Given the description of an element on the screen output the (x, y) to click on. 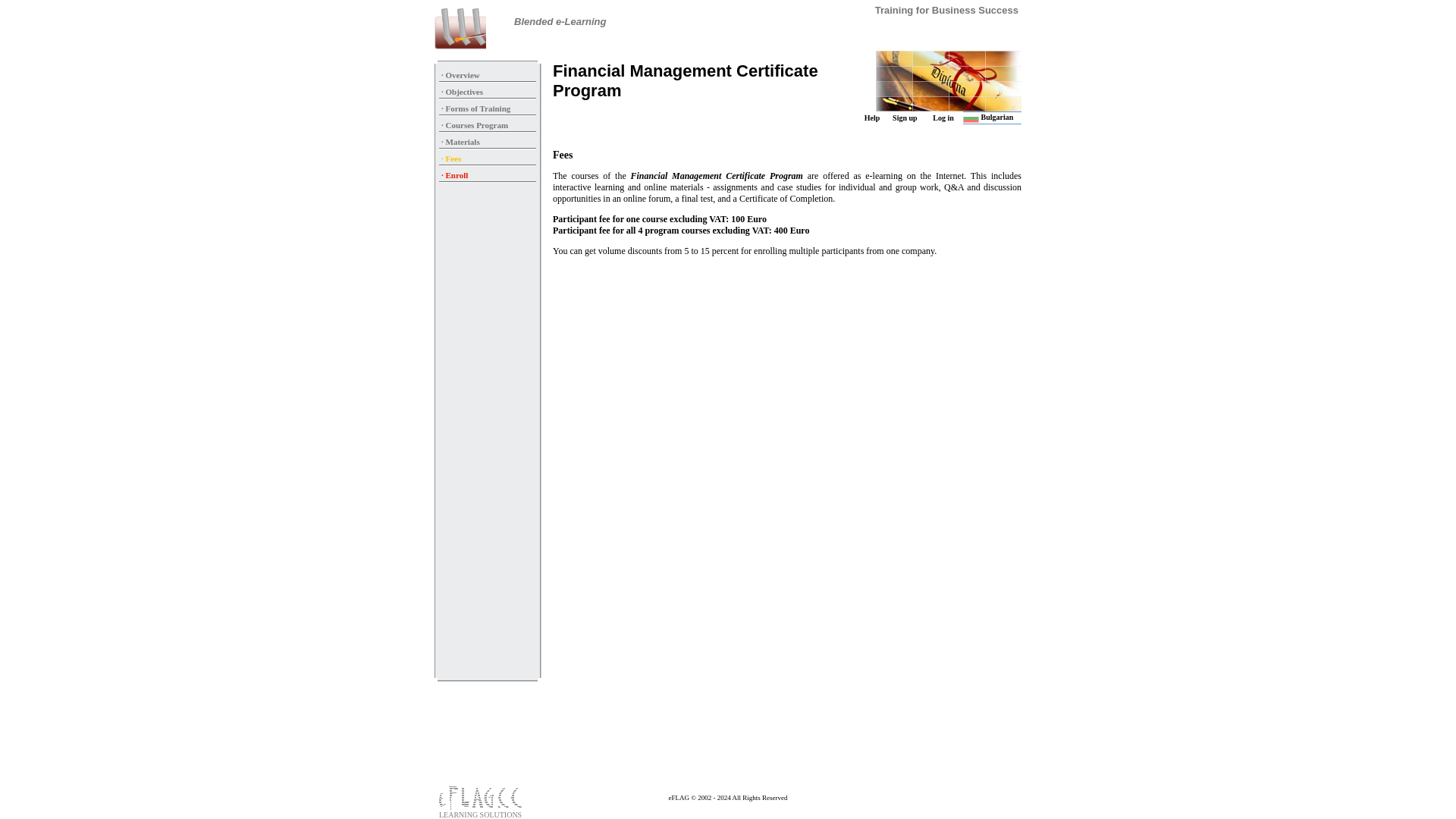
News (992, 30)
Sign up (904, 117)
Log in (943, 117)
Help (872, 117)
 Bulgarian (987, 117)
Home (616, 30)
